Given the description of an element on the screen output the (x, y) to click on. 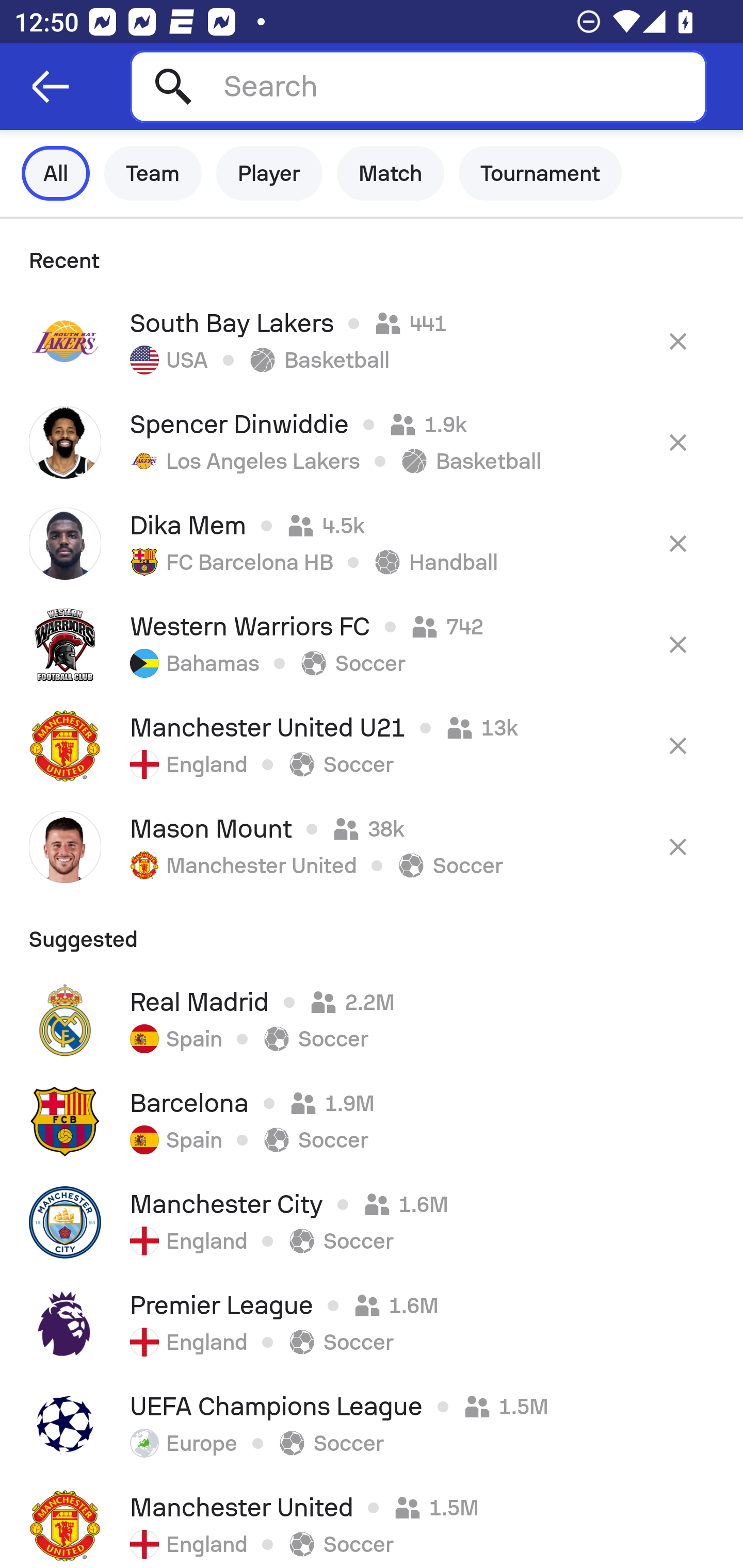
Navigate up (50, 86)
Search (418, 86)
All (55, 172)
Team (152, 172)
Player (268, 172)
Match (390, 172)
Tournament (540, 172)
Recent (371, 254)
South Bay Lakers 441 USA Basketball (371, 341)
Dika Mem 4.5k FC Barcelona HB Handball (371, 543)
Western Warriors FC 742 Bahamas Soccer (371, 644)
Manchester United U21 13k England Soccer (371, 745)
Mason Mount 38k Manchester United Soccer (371, 846)
Suggested (371, 932)
Real Madrid 2.2M Spain Soccer (371, 1019)
Barcelona 1.9M Spain Soccer (371, 1120)
Manchester City 1.6M England Soccer (371, 1222)
Premier League 1.6M England Soccer (371, 1323)
UEFA Champions League 1.5M Europe Soccer (371, 1424)
Manchester United 1.5M England Soccer (371, 1521)
